Given the description of an element on the screen output the (x, y) to click on. 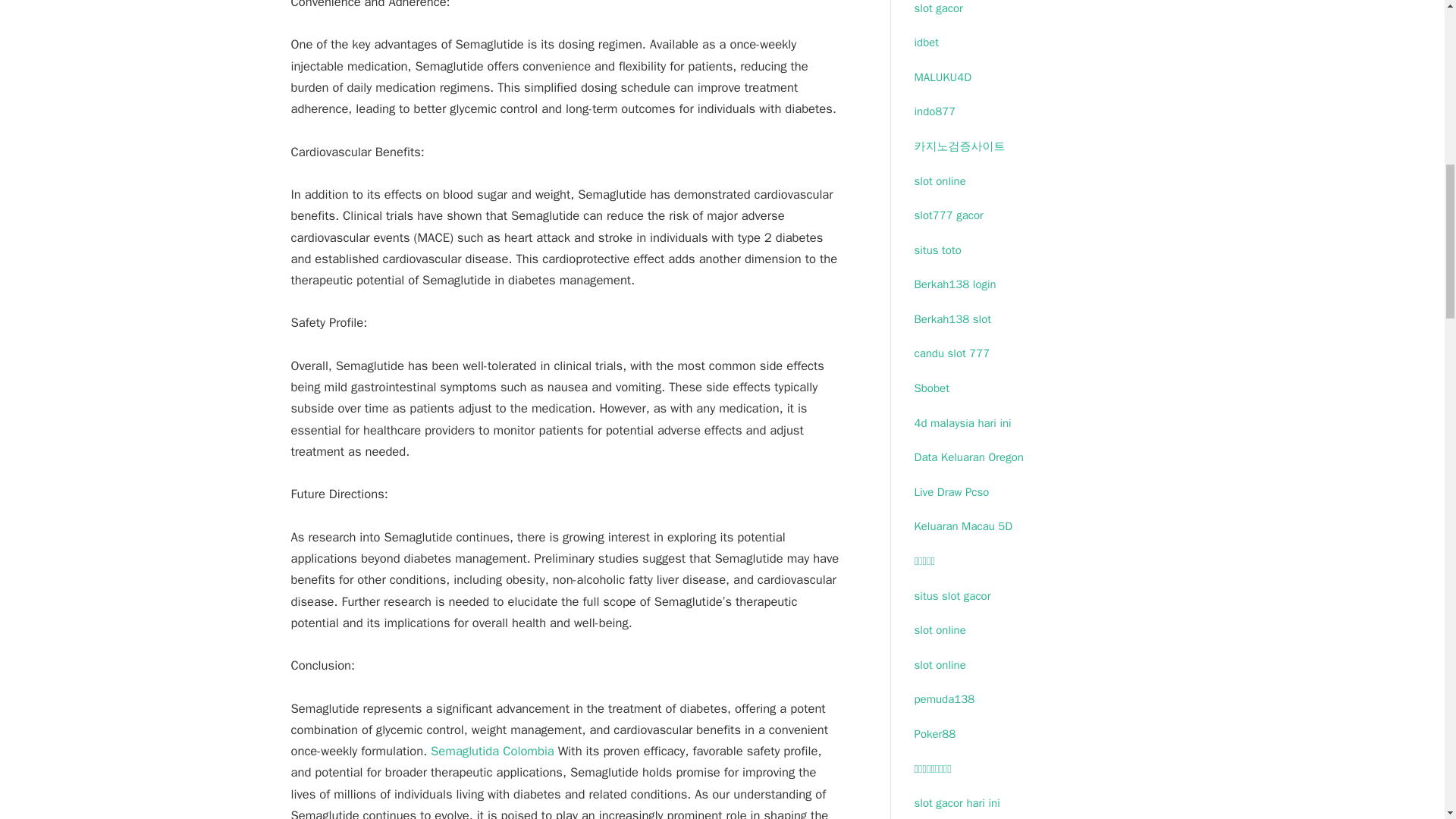
Semaglutida Colombia (492, 750)
